Given the description of an element on the screen output the (x, y) to click on. 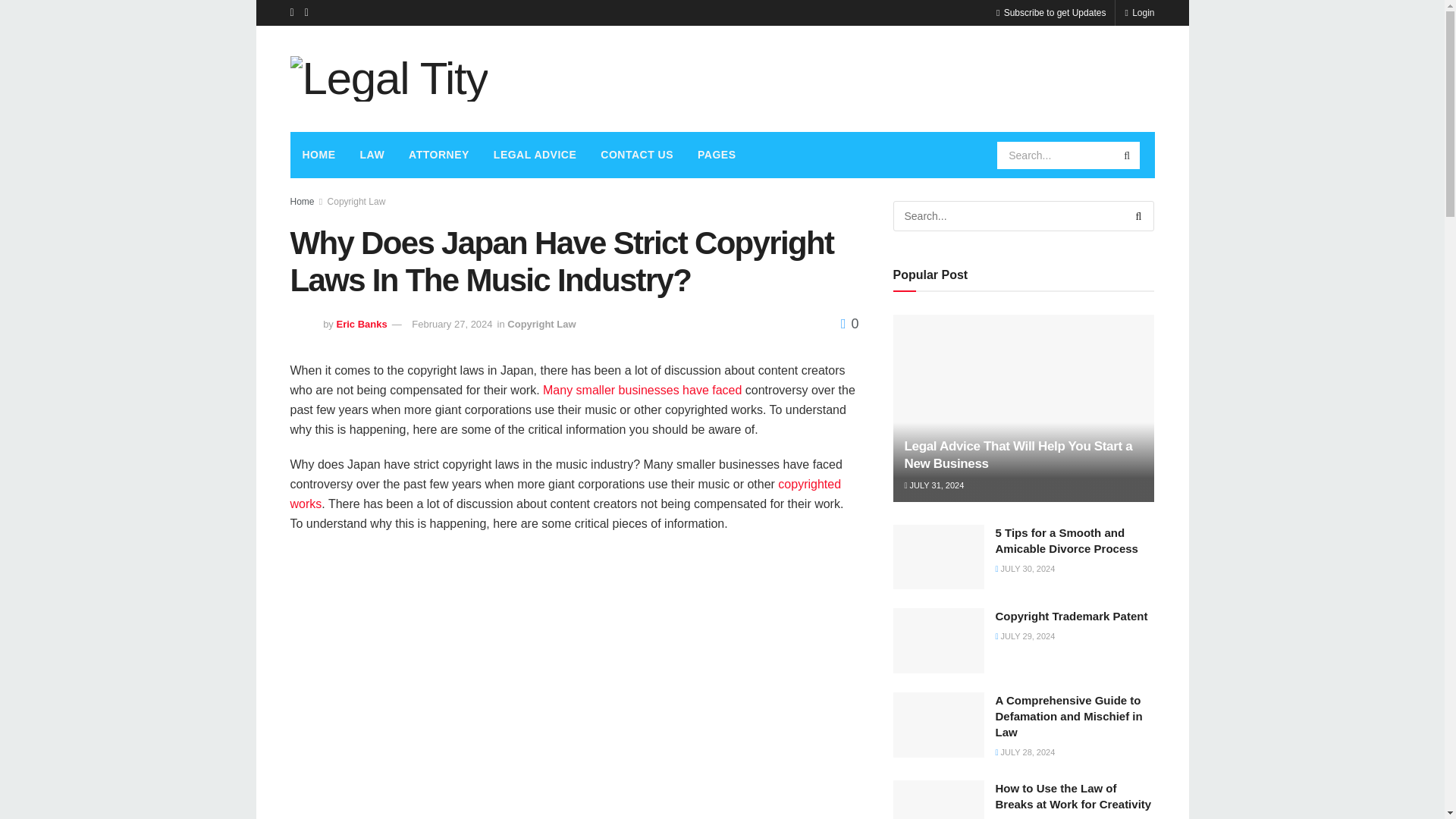
LAW (371, 154)
Login (1139, 12)
HOME (318, 154)
Subscribe to get Updates (1050, 12)
PAGES (716, 154)
ATTORNEY (438, 154)
CONTACT US (636, 154)
LEGAL ADVICE (534, 154)
